Given the description of an element on the screen output the (x, y) to click on. 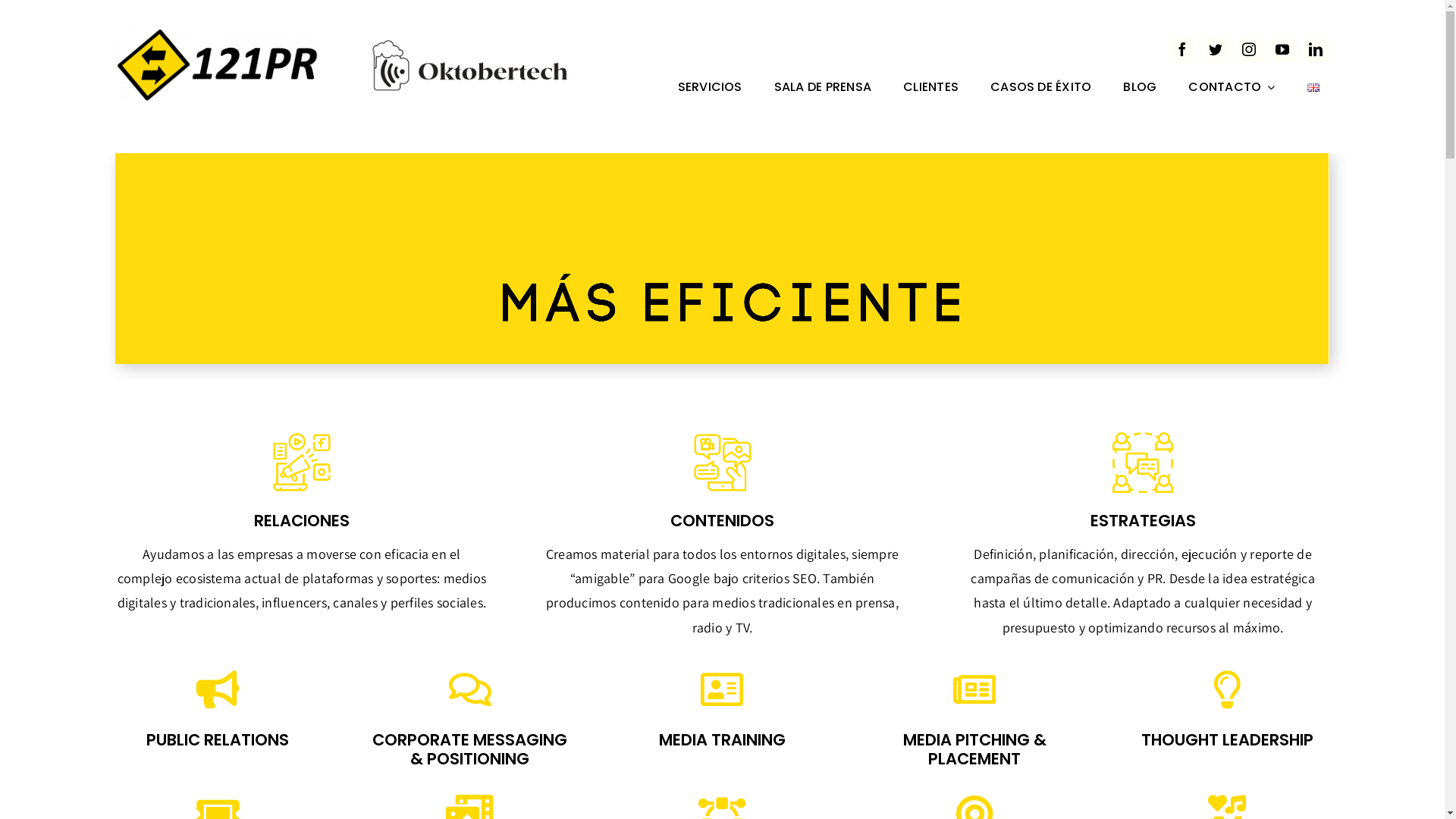
contenido Element type: hover (721, 462)
CONTACTO Element type: text (1231, 88)
SERVICIOS Element type: text (710, 88)
megafono1 Element type: hover (301, 462)
SALA DE PRENSA Element type: text (822, 88)
CLIENTES Element type: text (930, 88)
mensaje Element type: hover (1142, 462)
BLOG Element type: text (1139, 88)
